Given the description of an element on the screen output the (x, y) to click on. 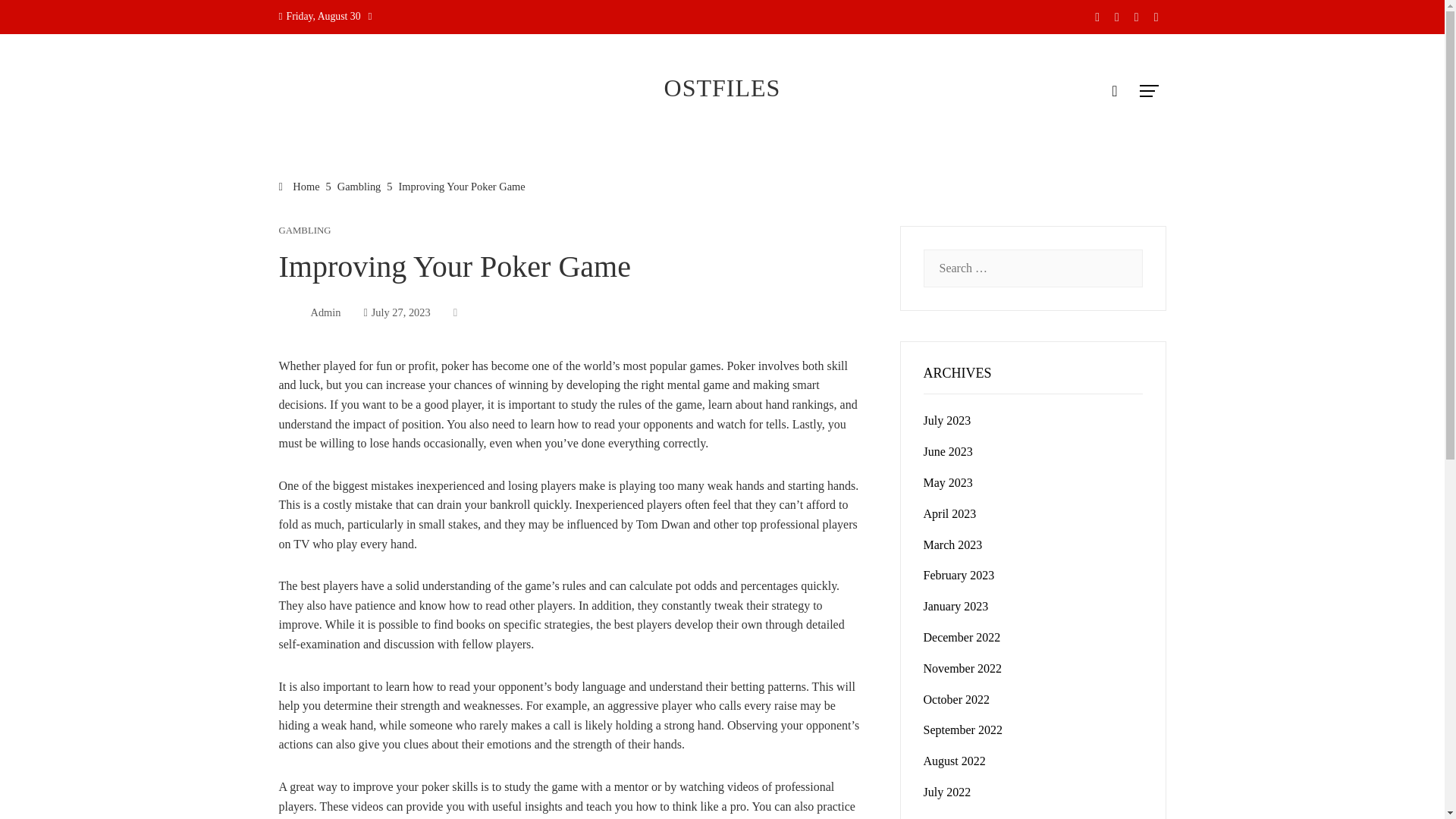
July 2022 (947, 791)
GAMBLING (305, 230)
May 2023 (947, 481)
April 2023 (949, 513)
July 2023 (947, 420)
March 2023 (952, 544)
Gambling (359, 186)
February 2023 (958, 574)
November 2022 (963, 667)
OSTFILES (721, 87)
